Given the description of an element on the screen output the (x, y) to click on. 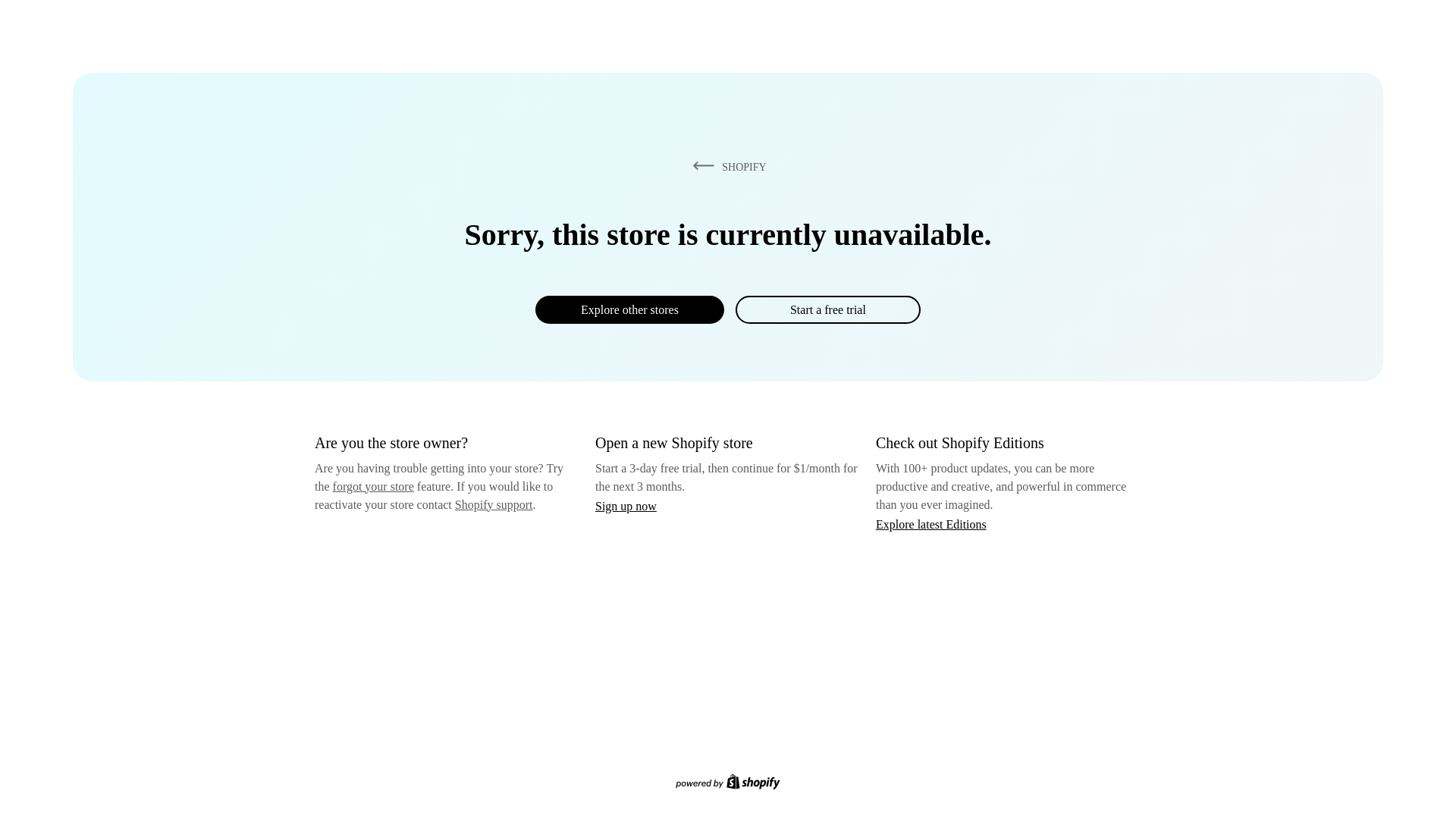
Explore other stores (629, 309)
SHOPIFY (726, 166)
Explore latest Editions (931, 523)
forgot your store (373, 486)
Shopify support (493, 504)
Sign up now (625, 505)
Start a free trial (827, 309)
